Given the description of an element on the screen output the (x, y) to click on. 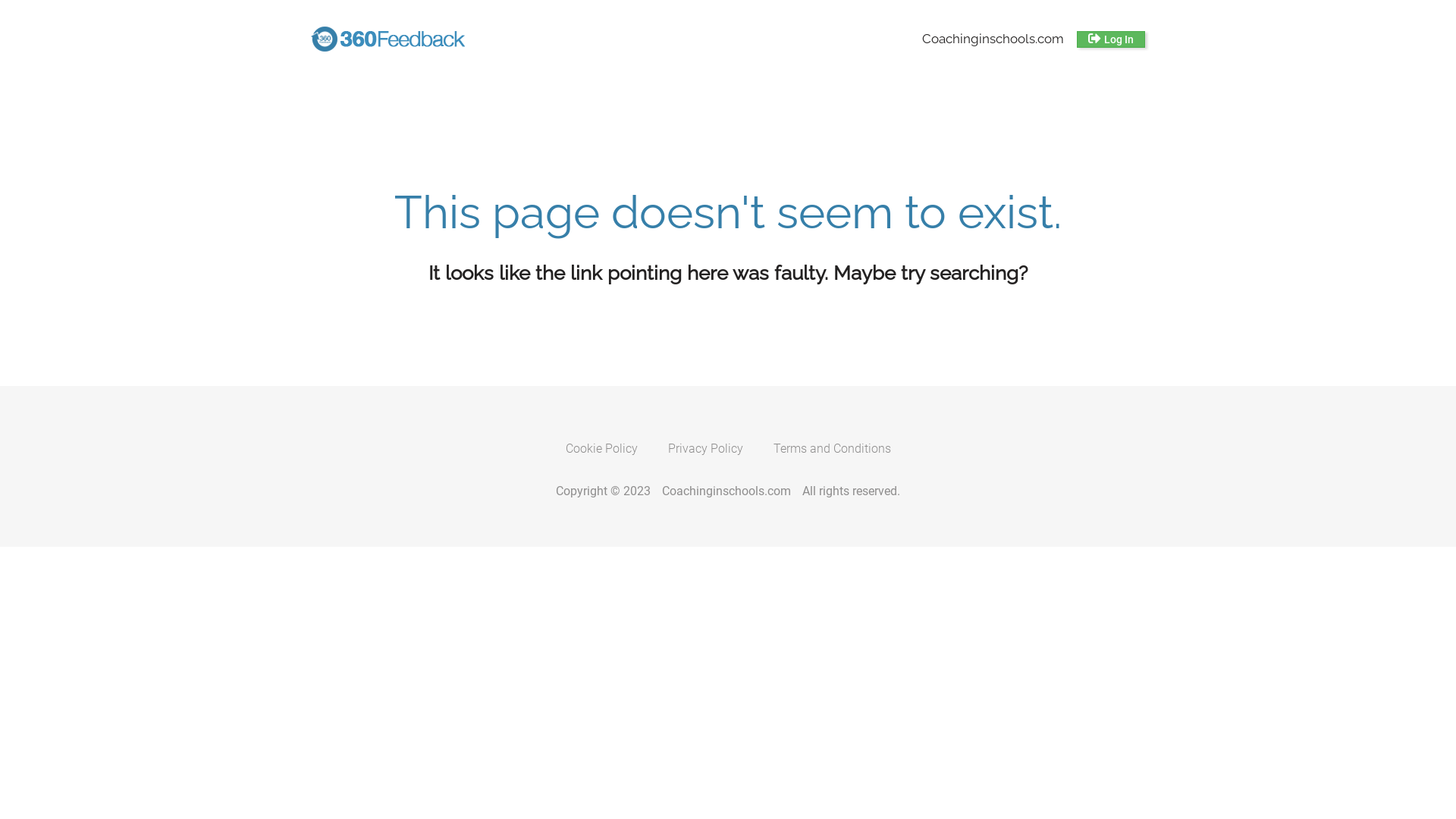
Cookie Policy Element type: text (601, 448)
Privacy Policy Element type: text (704, 448)
Terms and Conditions Element type: text (832, 448)
Log In Element type: text (1110, 39)
Coachinginschools.com Element type: text (992, 38)
Coachinginschools.com Element type: text (726, 491)
